Given the description of an element on the screen output the (x, y) to click on. 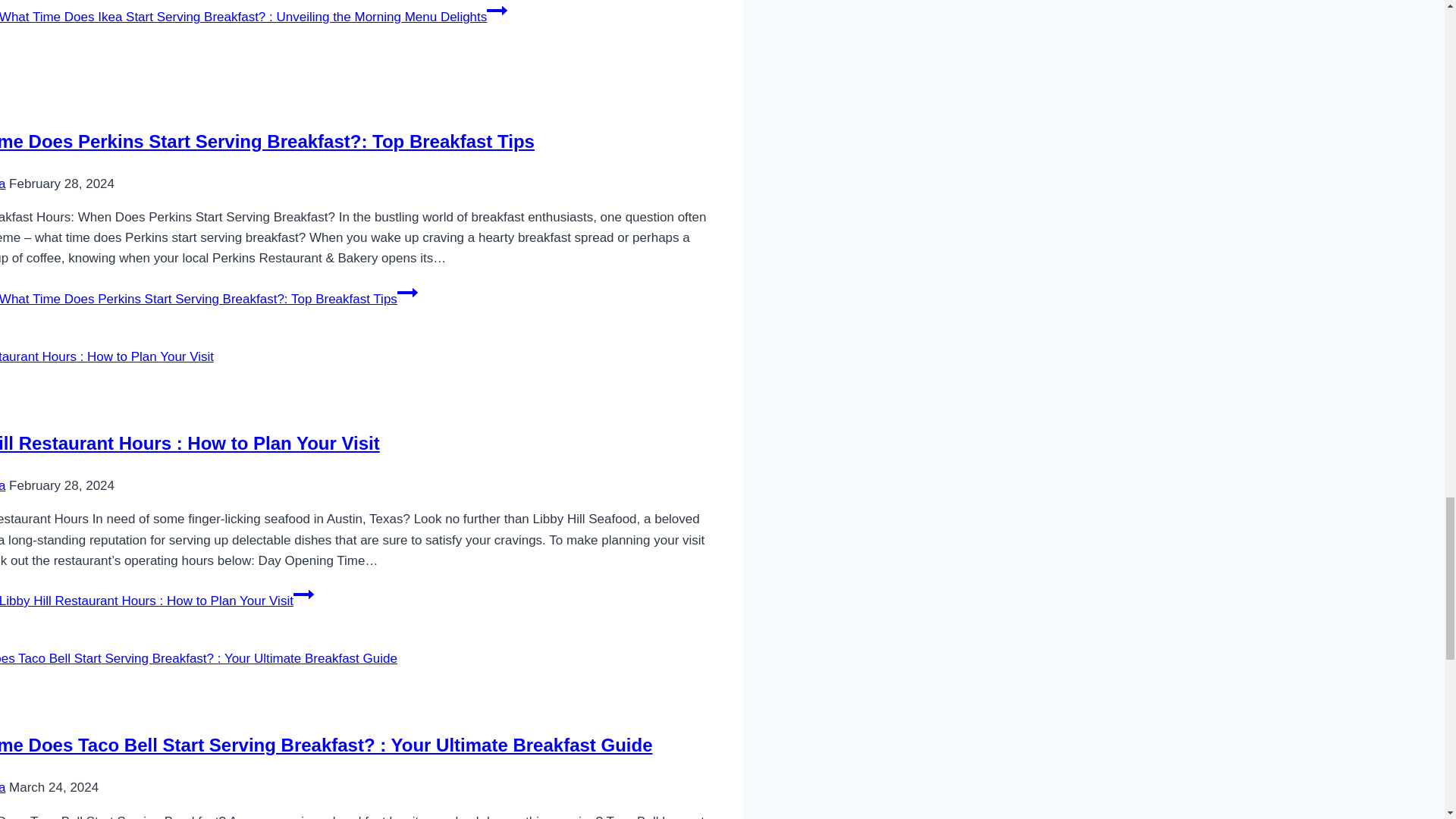
Continue (407, 292)
Continue (304, 594)
Libby Hill Restaurant Hours : How to Plan Your Visit (190, 443)
Continue (496, 10)
